Given the description of an element on the screen output the (x, y) to click on. 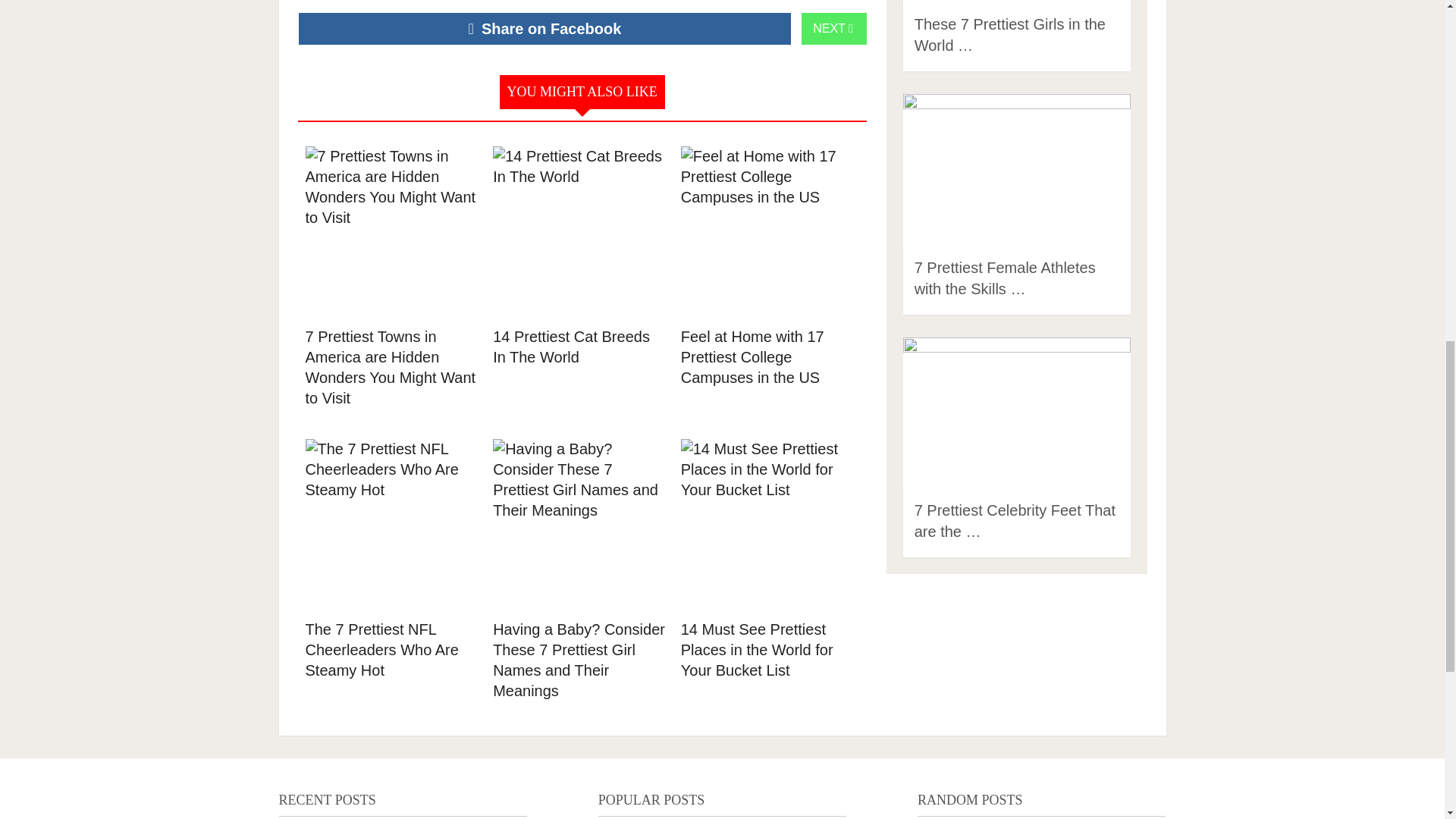
Share on Facebook (544, 29)
7 Prettiest Female Athletes with the Skills and Looks (1005, 278)
NEXT (834, 29)
These 7 Prettiest Girls in the World Will Make You Swoon (1009, 34)
